Given the description of an element on the screen output the (x, y) to click on. 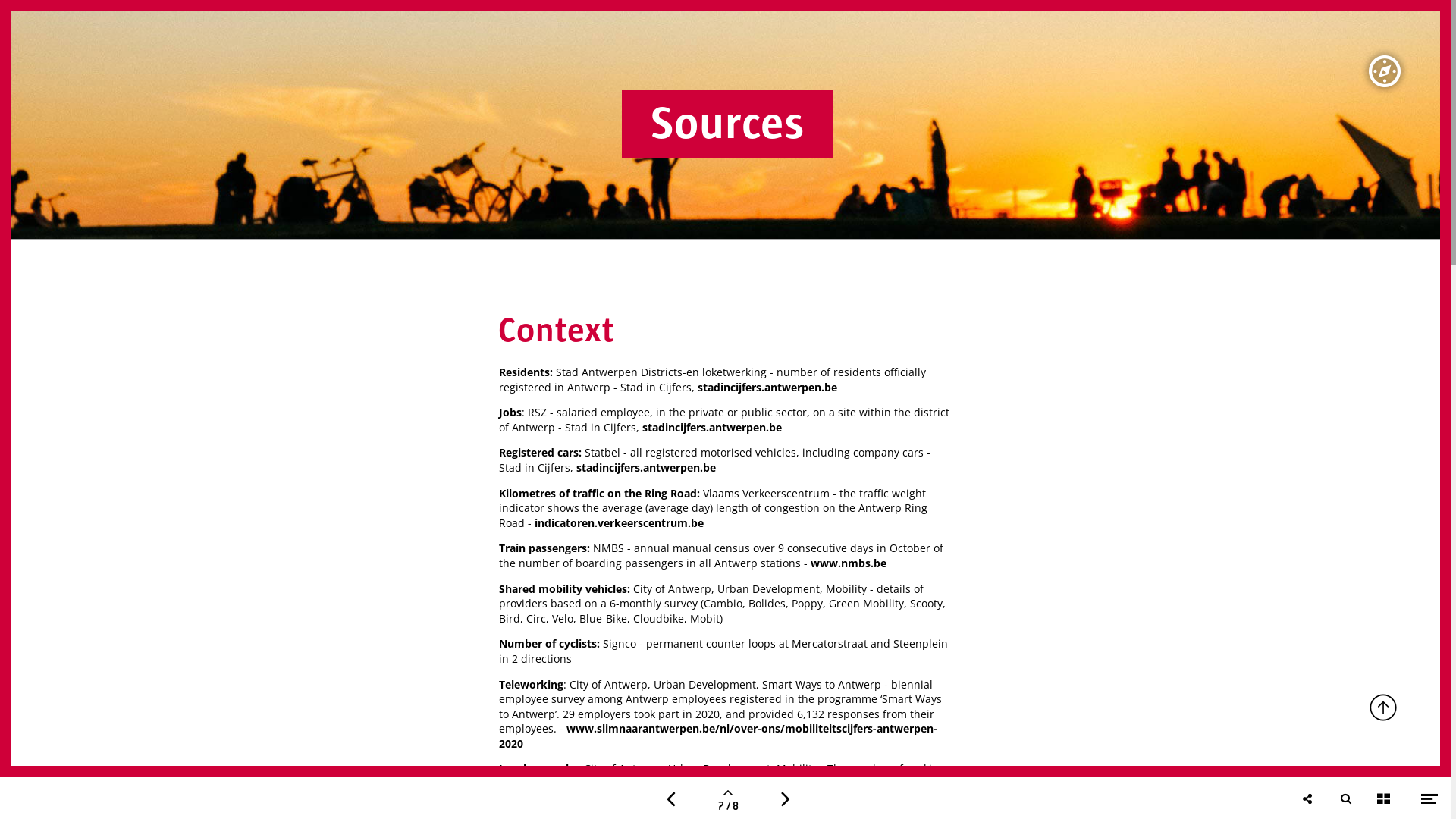
Open navigation Element type: text (727, 793)
indicatoren.verkeerscentrum.be Element type: text (618, 522)
www.nmbs.be Element type: text (848, 562)
stadincijfers.antwerpen.be Element type: text (767, 386)
stadincijfers.antwerpen.be Element type: text (645, 467)
stadincijfers.antwerpen.be Element type: text (780, 783)
stadincijfers.antwerpen.be Element type: text (711, 427)
Skip to content Element type: text (26, 738)
